Given the description of an element on the screen output the (x, y) to click on. 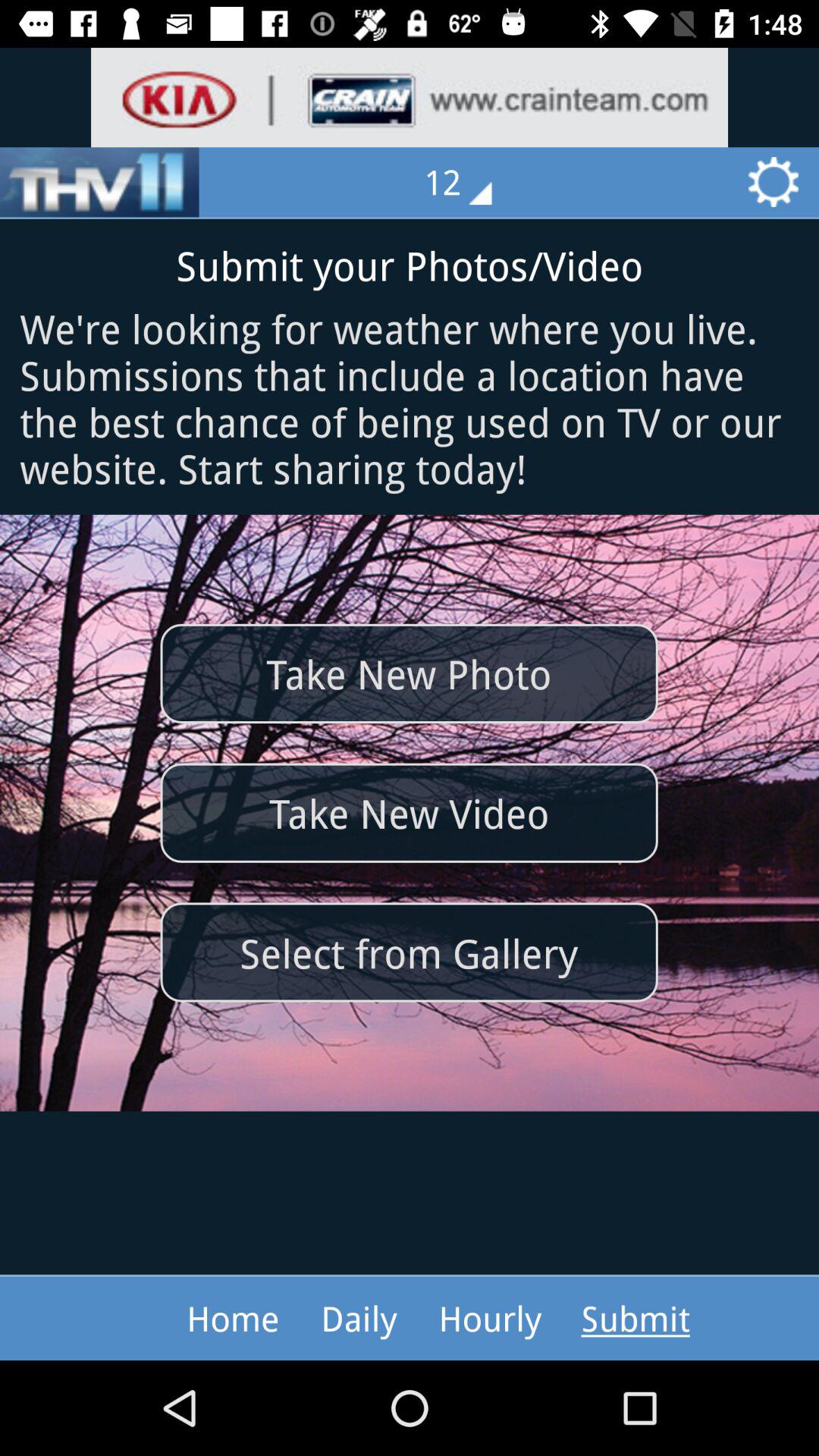
banner advertisement (409, 97)
